Given the description of an element on the screen output the (x, y) to click on. 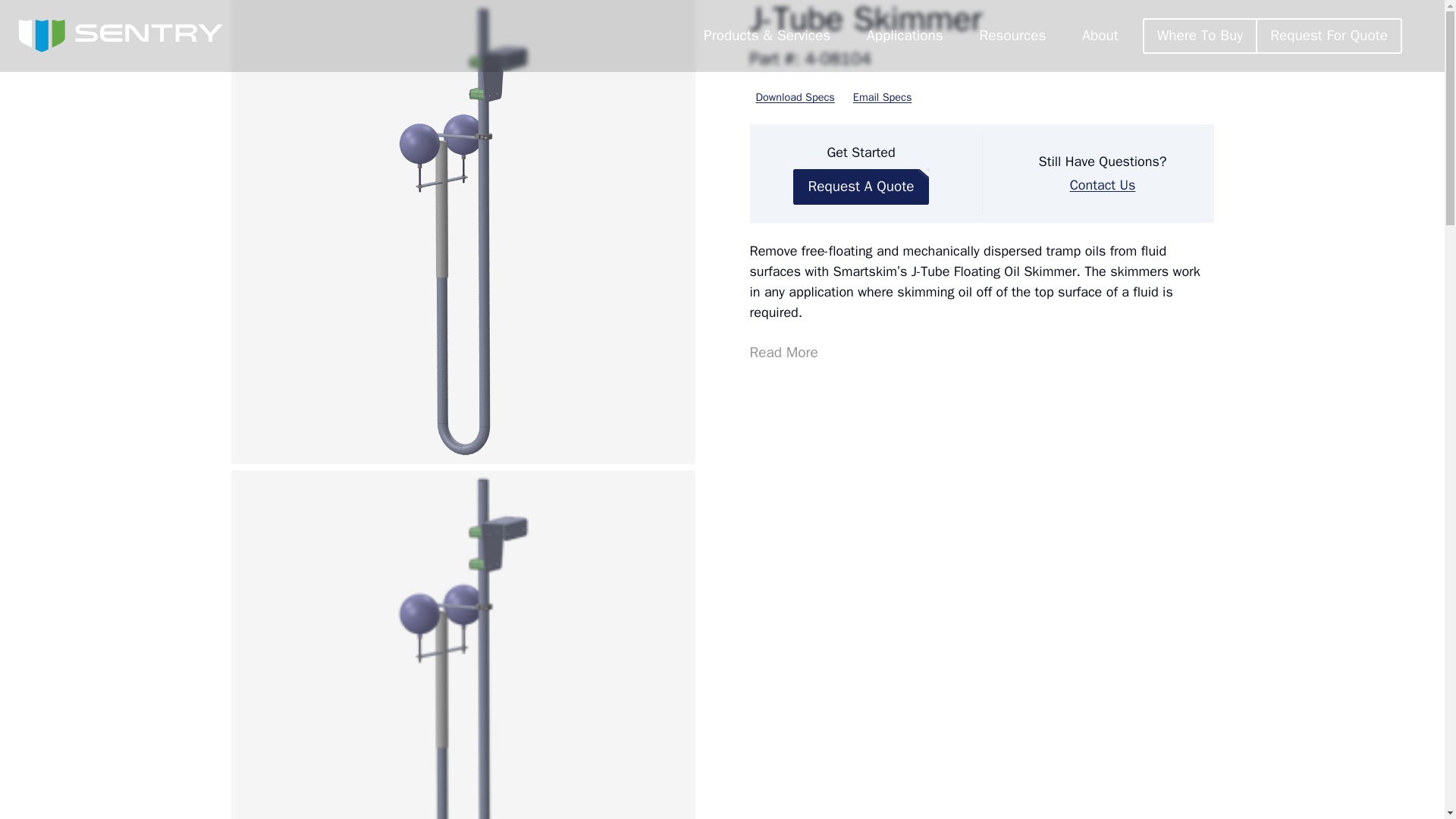
Download Specs (794, 97)
Email Specs (882, 97)
Home (119, 35)
Request A Quote (860, 186)
Request For Quote (1328, 36)
About (1099, 35)
Where To Buy (1199, 36)
Resources (1012, 35)
Search Website (1419, 35)
Applications (904, 35)
Contact Us (1102, 184)
Read More (786, 347)
